Given the description of an element on the screen output the (x, y) to click on. 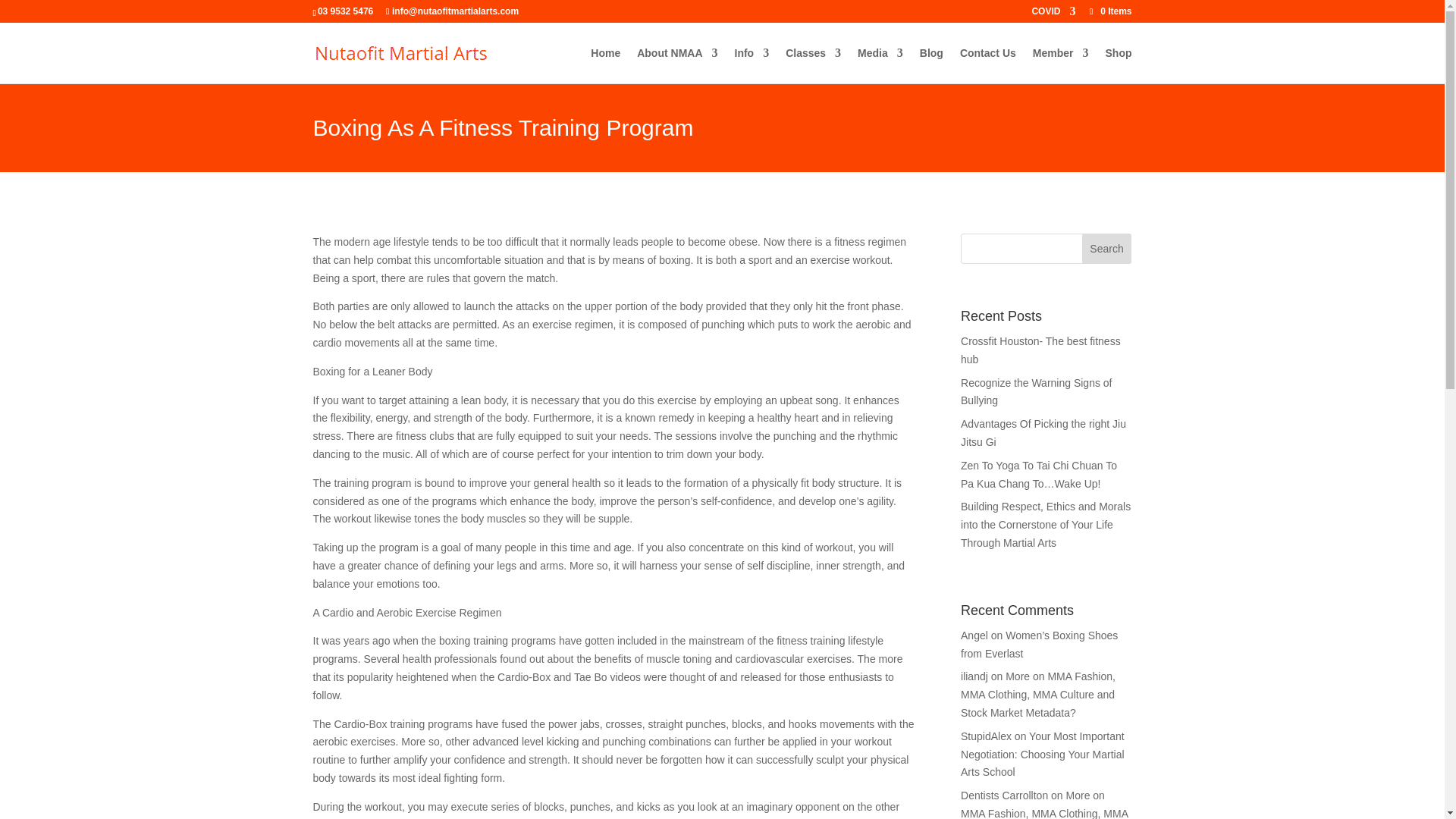
Classes (813, 65)
Media (879, 65)
COVID (1052, 14)
0 Items (1108, 10)
Contact Us (987, 65)
Member (1060, 65)
Search (1106, 248)
About NMAA (677, 65)
Info (752, 65)
